Given the description of an element on the screen output the (x, y) to click on. 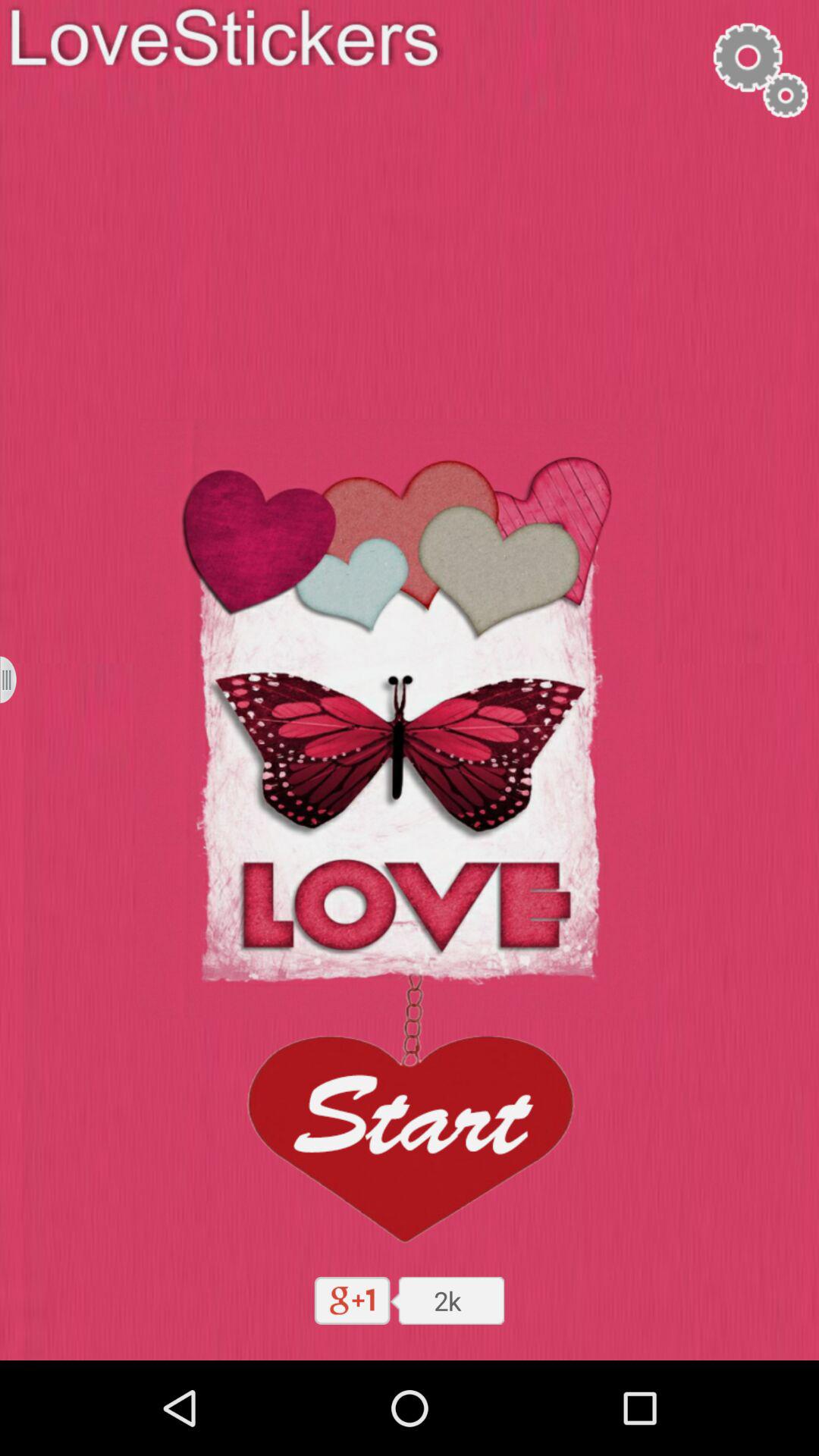
display more (18, 679)
